Given the description of an element on the screen output the (x, y) to click on. 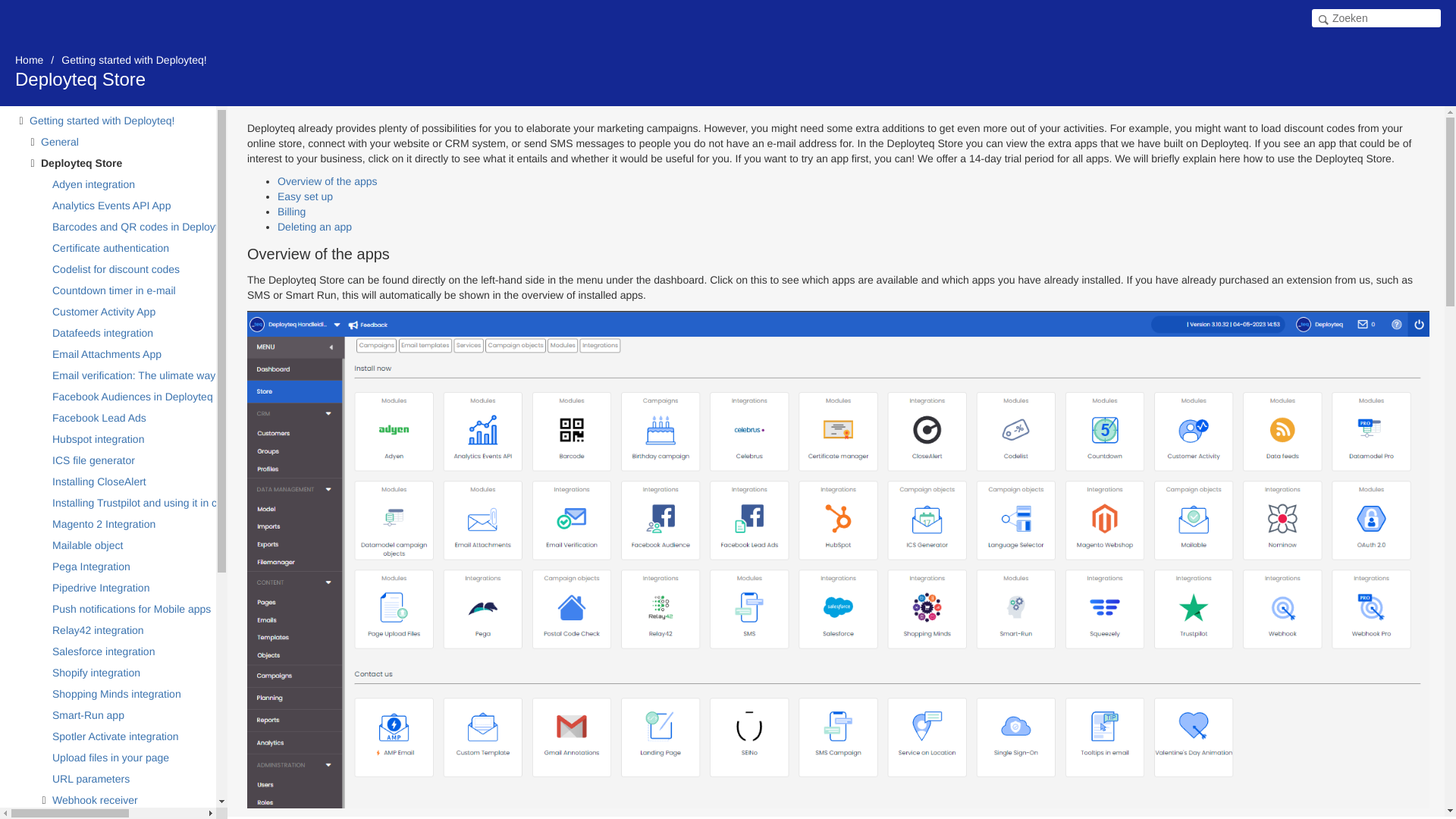
Email Attachments App (132, 353)
Barcodes and QR codes in Deployteq (143, 226)
Upload files in your page (132, 757)
ICS file generator (132, 459)
General (126, 141)
Countdown timer in e-mail (132, 290)
Datafeeds integration (132, 332)
Codelist for discount codes (132, 269)
Webhook receiver (132, 799)
Hubspot integration (132, 438)
Installing Trustpilot and using it in campaigns (159, 502)
Analytics Events API App (132, 205)
URL parameters (132, 778)
Getting started with Deployteq! (133, 60)
